Given the description of an element on the screen output the (x, y) to click on. 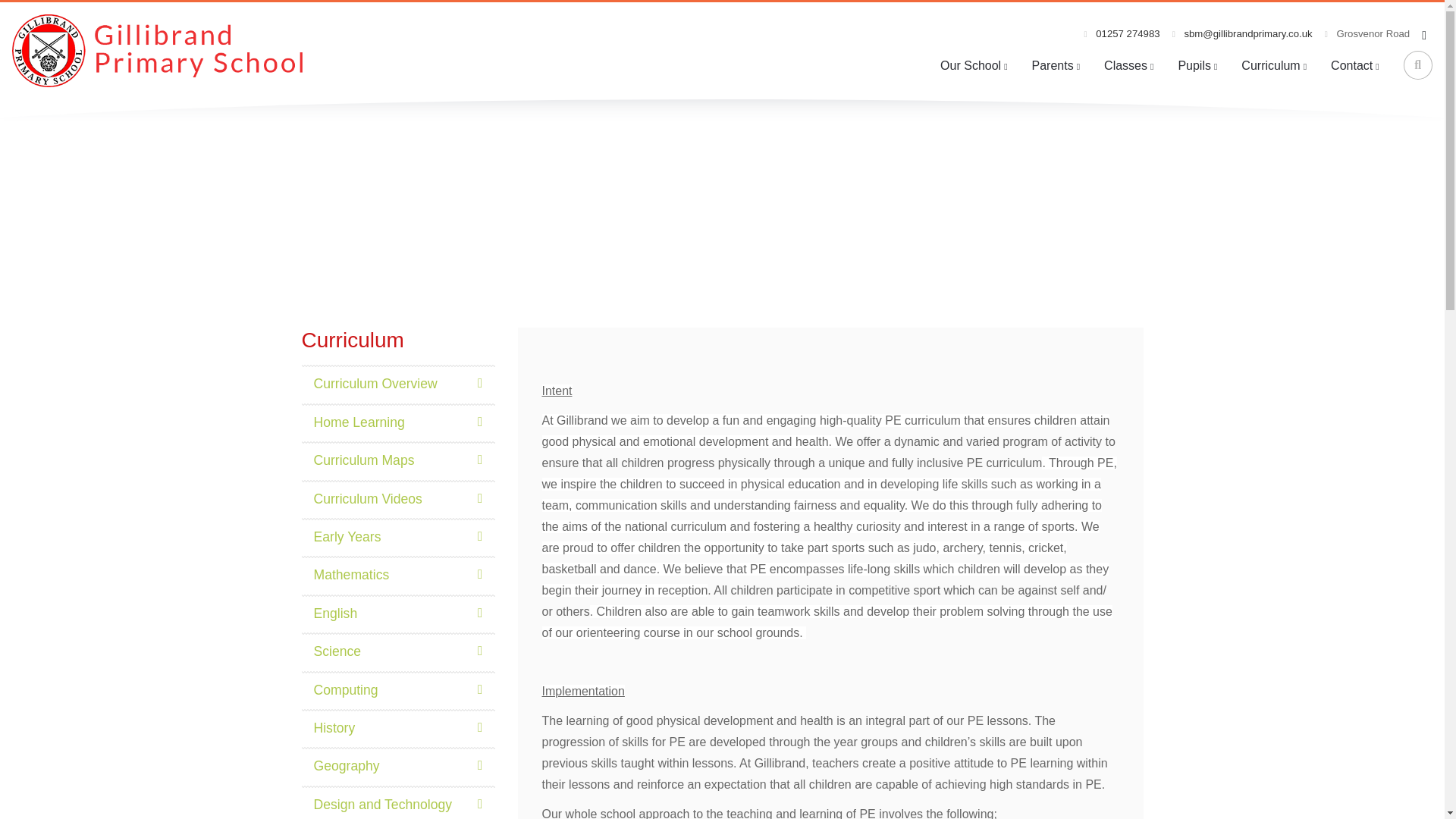
X (930, 646)
Our School (973, 65)
Parents (1056, 65)
01257 274983 (1122, 33)
